Given the description of an element on the screen output the (x, y) to click on. 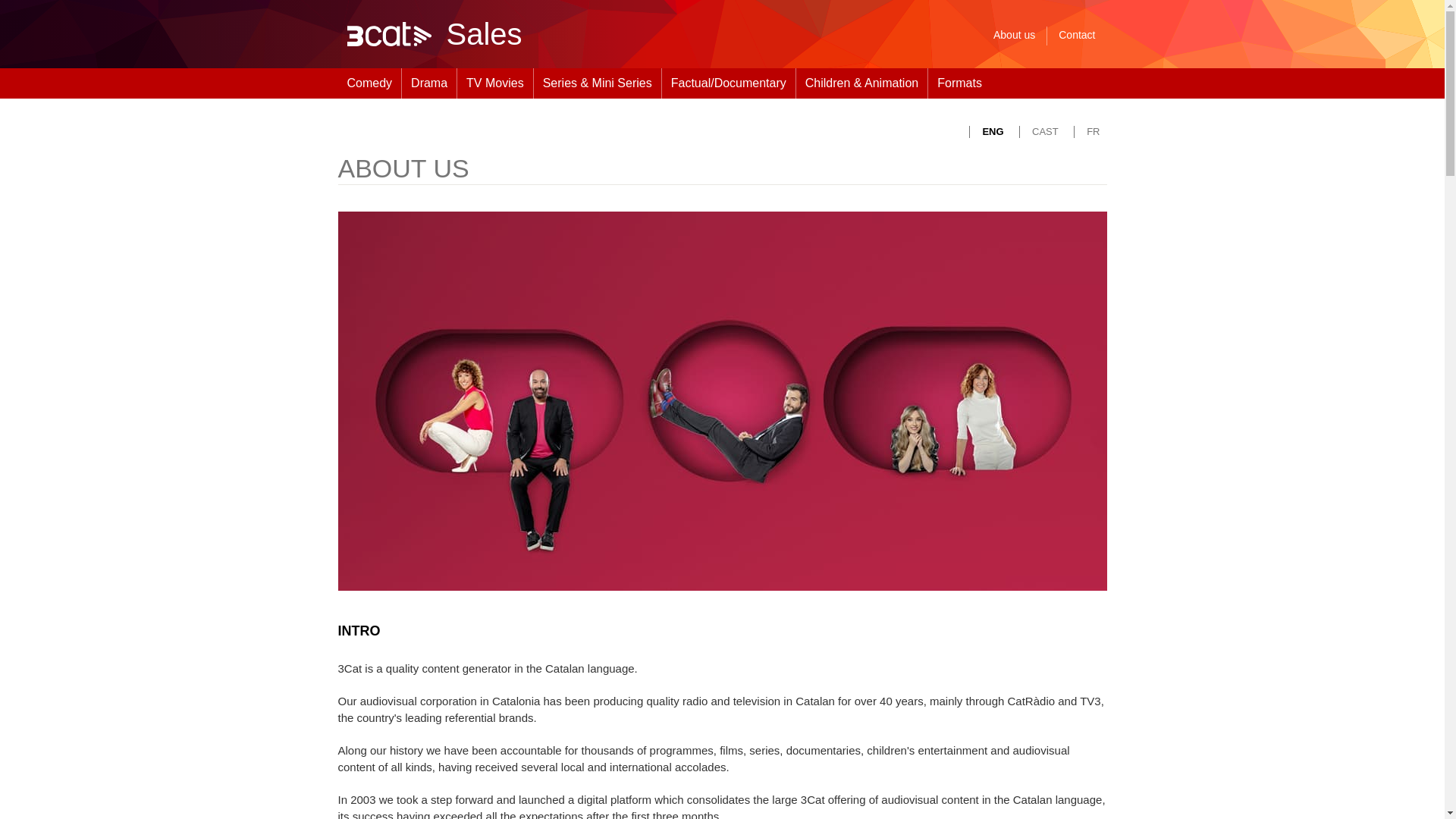
Drama (429, 82)
TV Movies (494, 82)
ENG (991, 132)
Comedy (369, 82)
FR (1086, 132)
Comedy (369, 82)
Formats (959, 82)
3Cat Sales (571, 33)
About us (1013, 35)
Drama (429, 82)
